Given the description of an element on the screen output the (x, y) to click on. 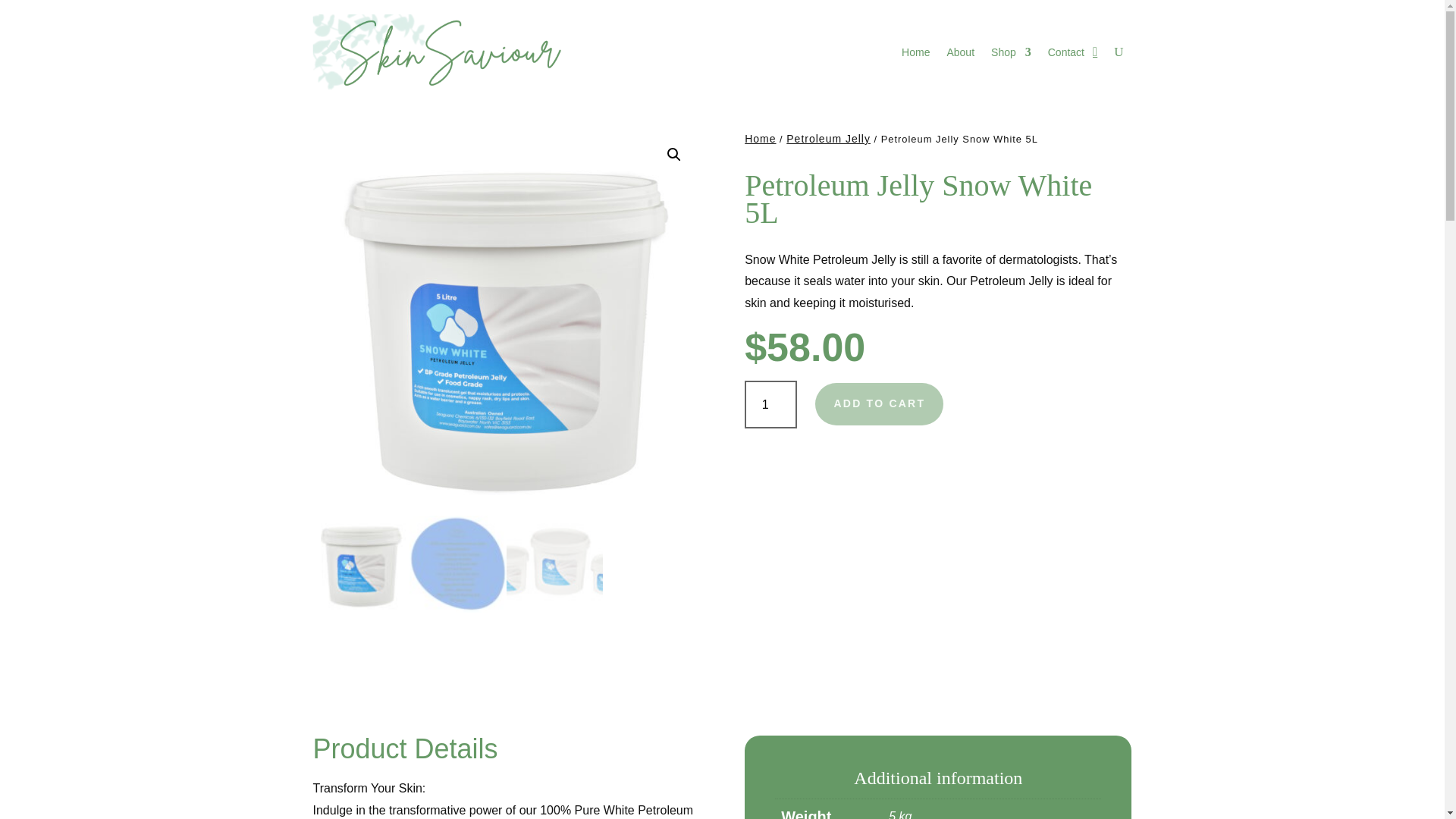
Home (760, 138)
ADD TO CART (879, 404)
1 (770, 404)
Petroleum Jelly (828, 138)
